Given the description of an element on the screen output the (x, y) to click on. 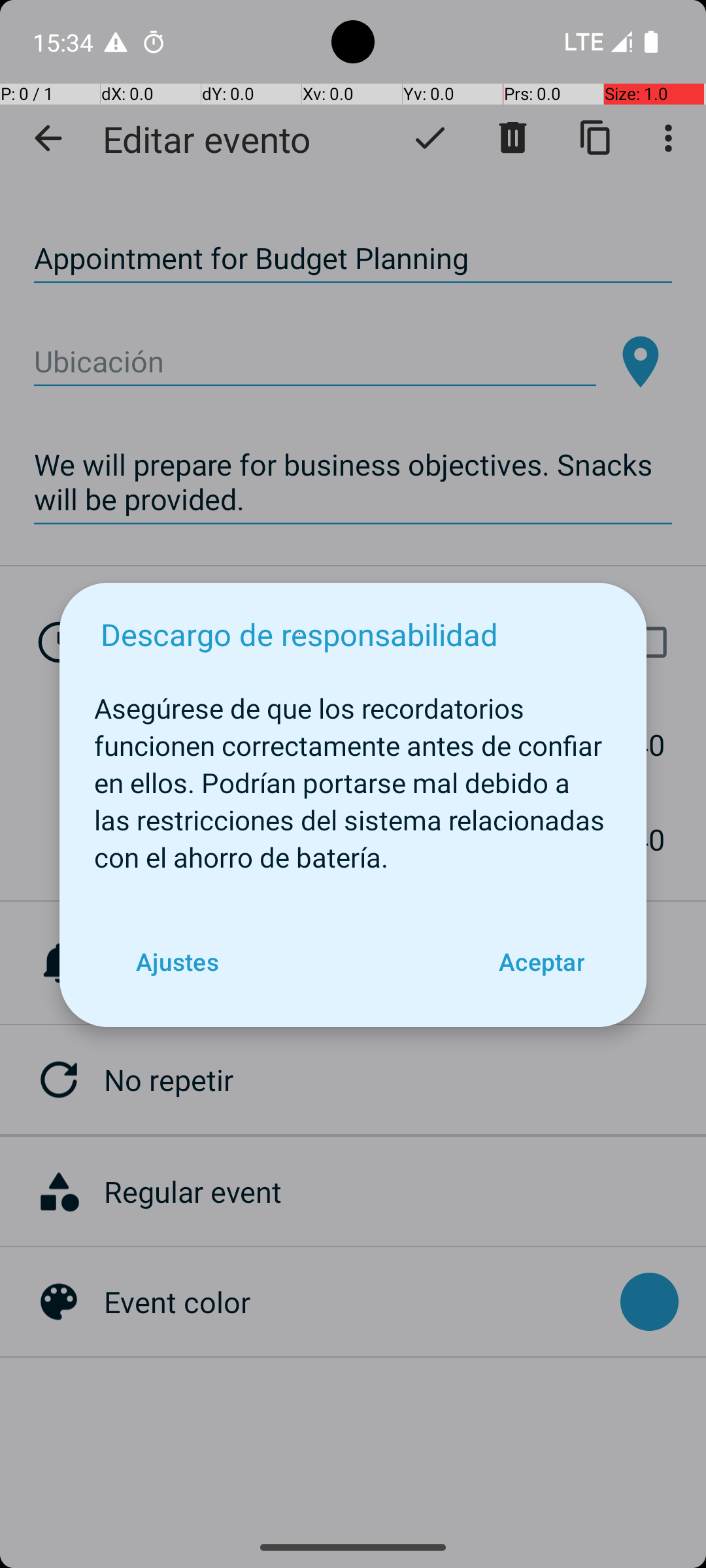
Descargo de responsabilidad Element type: android.widget.TextView (299, 633)
Asegúrese de que los recordatorios funcionen correctamente antes de confiar en ellos. Podrían portarse mal debido a las restricciones del sistema relacionadas con el ahorro de batería. Element type: android.widget.TextView (352, 775)
Aceptar Element type: android.widget.Button (541, 961)
